Given the description of an element on the screen output the (x, y) to click on. 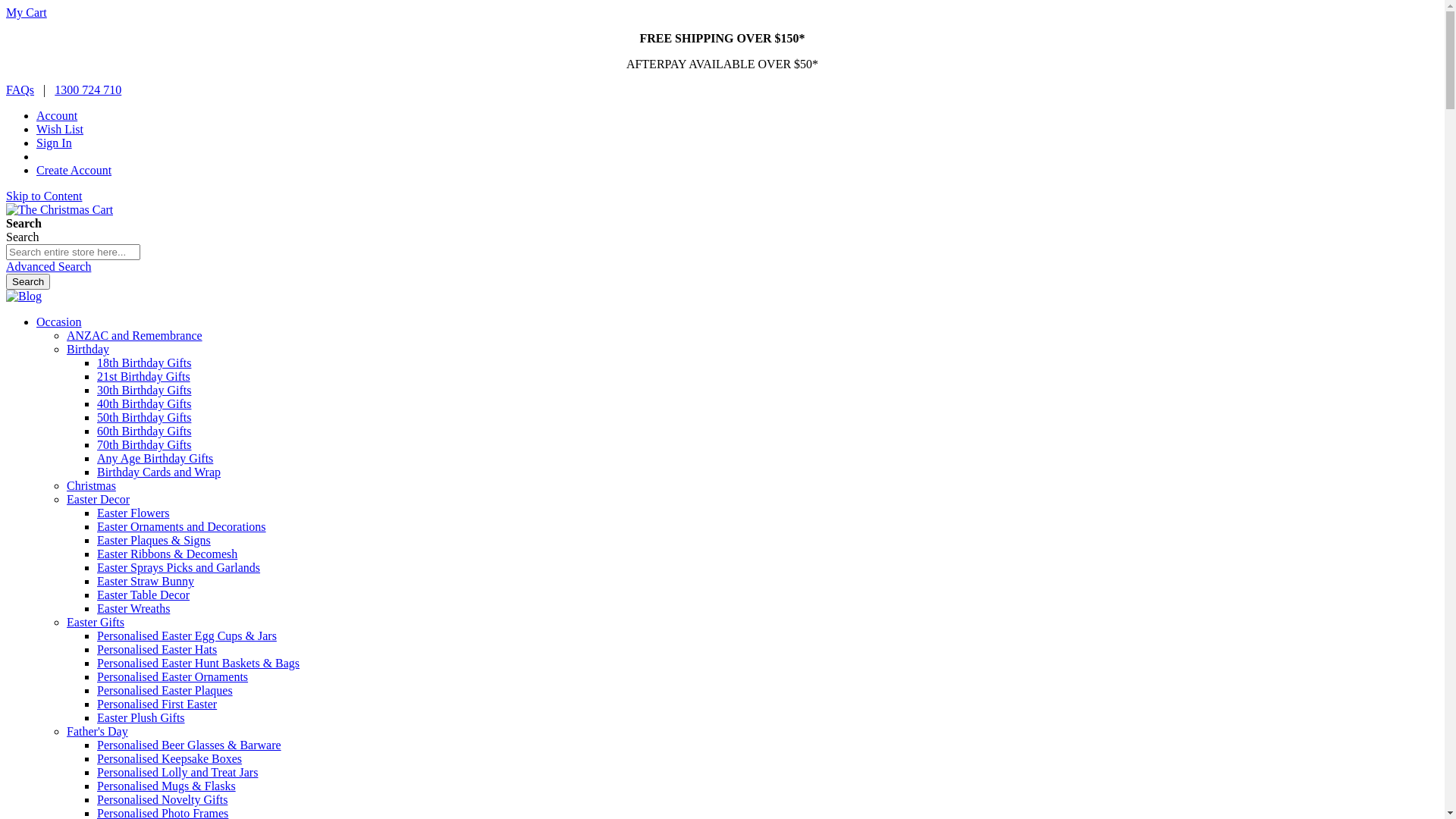
Personalised Easter Hats Element type: text (156, 649)
Easter Sprays Picks and Garlands Element type: text (178, 567)
Easter Ornaments and Decorations Element type: text (181, 526)
Account Element type: text (56, 115)
Personalised Lolly and Treat Jars Element type: text (177, 771)
Easter Straw Bunny Element type: text (145, 580)
Easter Table Decor Element type: text (143, 594)
Skip to Content Element type: text (43, 195)
30th Birthday Gifts Element type: text (144, 389)
70th Birthday Gifts Element type: text (144, 444)
Personalised First Easter Element type: text (156, 703)
Personalised Keepsake Boxes Element type: text (169, 758)
Personalised Mugs & Flasks Element type: text (166, 785)
FAQs Element type: text (20, 89)
1300 724 710 Element type: text (87, 89)
Personalised Easter Ornaments Element type: text (172, 676)
18th Birthday Gifts Element type: text (144, 362)
Personalised Easter Egg Cups & Jars Element type: text (186, 635)
Wish List Element type: text (59, 128)
ANZAC and Remembrance Element type: text (134, 335)
Personalised Beer Glasses & Barware Element type: text (189, 744)
Advanced Search Element type: text (48, 266)
40th Birthday Gifts Element type: text (144, 403)
Personalised Easter Hunt Baskets & Bags Element type: text (198, 662)
Occasion Element type: text (58, 321)
My Cart Element type: text (26, 12)
Create Account Element type: text (73, 169)
50th Birthday Gifts Element type: text (144, 417)
Any Age Birthday Gifts Element type: text (155, 457)
The Christmas Cart Element type: hover (59, 209)
Birthday Element type: text (87, 348)
Christmas Element type: text (91, 485)
Easter Decor Element type: text (97, 498)
Personalised Novelty Gifts Element type: text (162, 799)
Easter Wreaths Element type: text (133, 608)
The Christmas Cart Element type: hover (59, 209)
Easter Plaques & Signs Element type: text (153, 539)
Blog Element type: hover (23, 295)
Sign In Element type: text (54, 142)
Search Element type: text (28, 281)
Father's Day Element type: text (97, 730)
Easter Plush Gifts Element type: text (141, 717)
Easter Ribbons & Decomesh Element type: text (167, 553)
21st Birthday Gifts Element type: text (143, 376)
Easter Flowers Element type: text (133, 512)
Easter Gifts Element type: text (95, 621)
60th Birthday Gifts Element type: text (144, 430)
Personalised Easter Plaques Element type: text (164, 690)
Birthday Cards and Wrap Element type: text (158, 471)
